Given the description of an element on the screen output the (x, y) to click on. 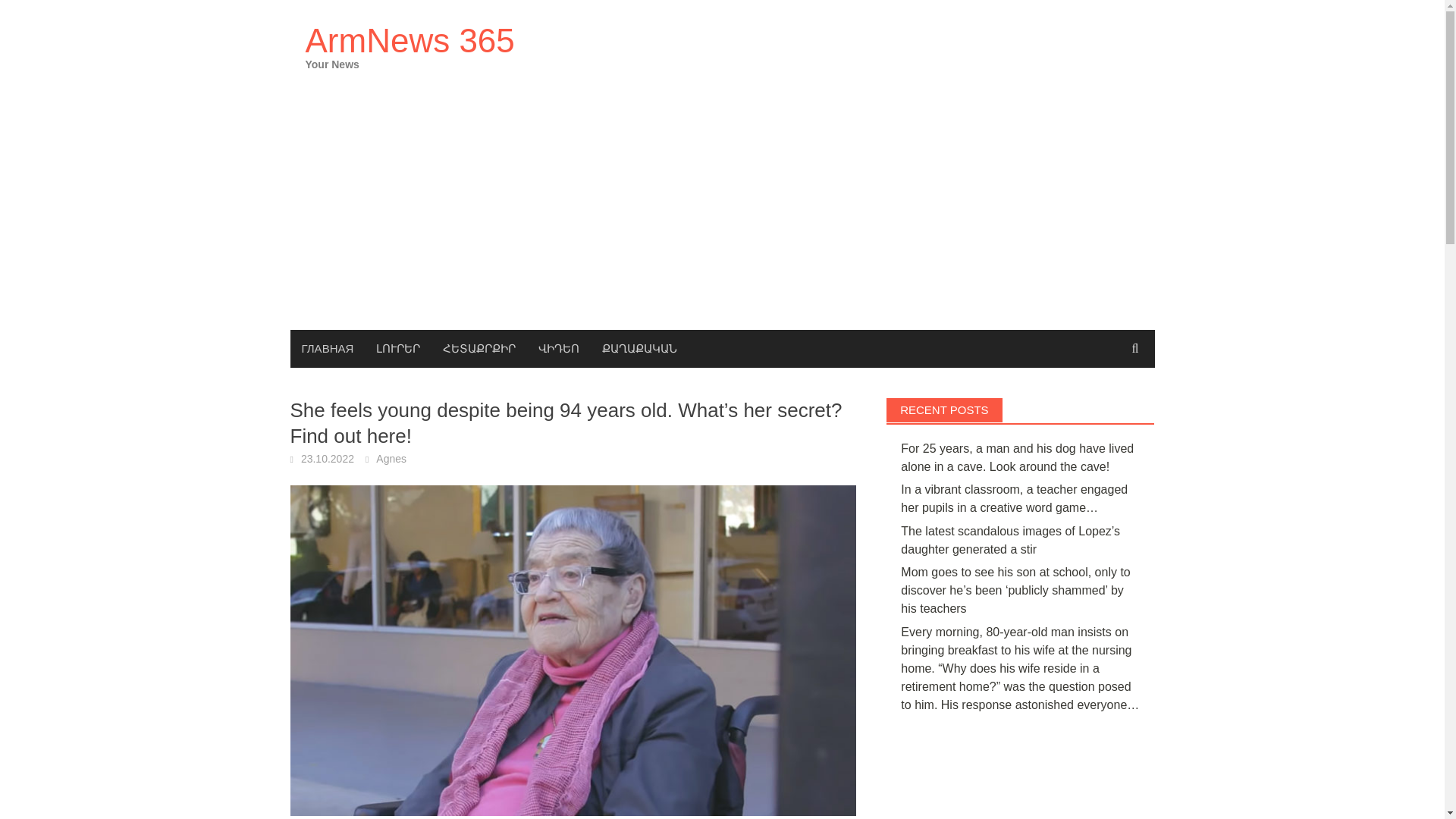
ArmNews 365 (408, 40)
23.10.2022 (327, 458)
Agnes (390, 458)
